Given the description of an element on the screen output the (x, y) to click on. 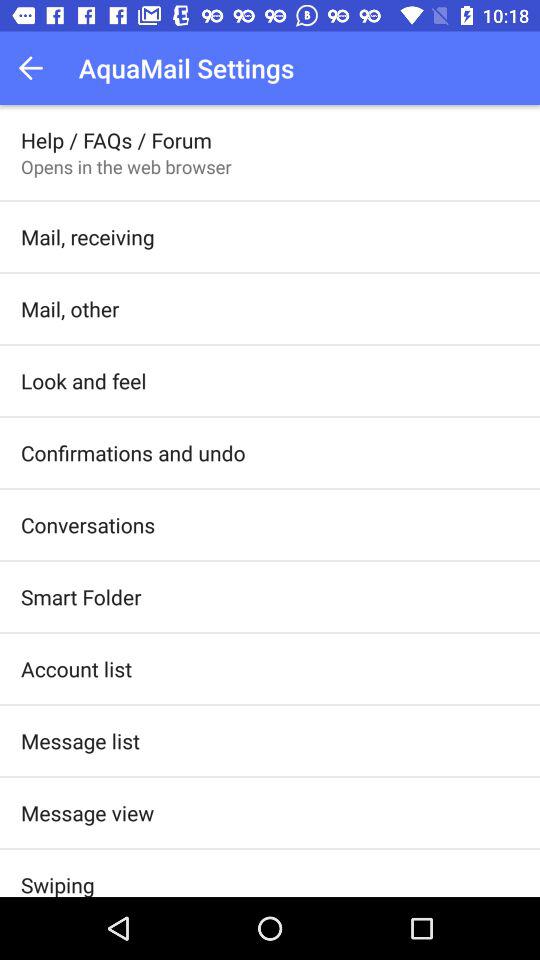
tap the item below the smart folder (76, 668)
